Given the description of an element on the screen output the (x, y) to click on. 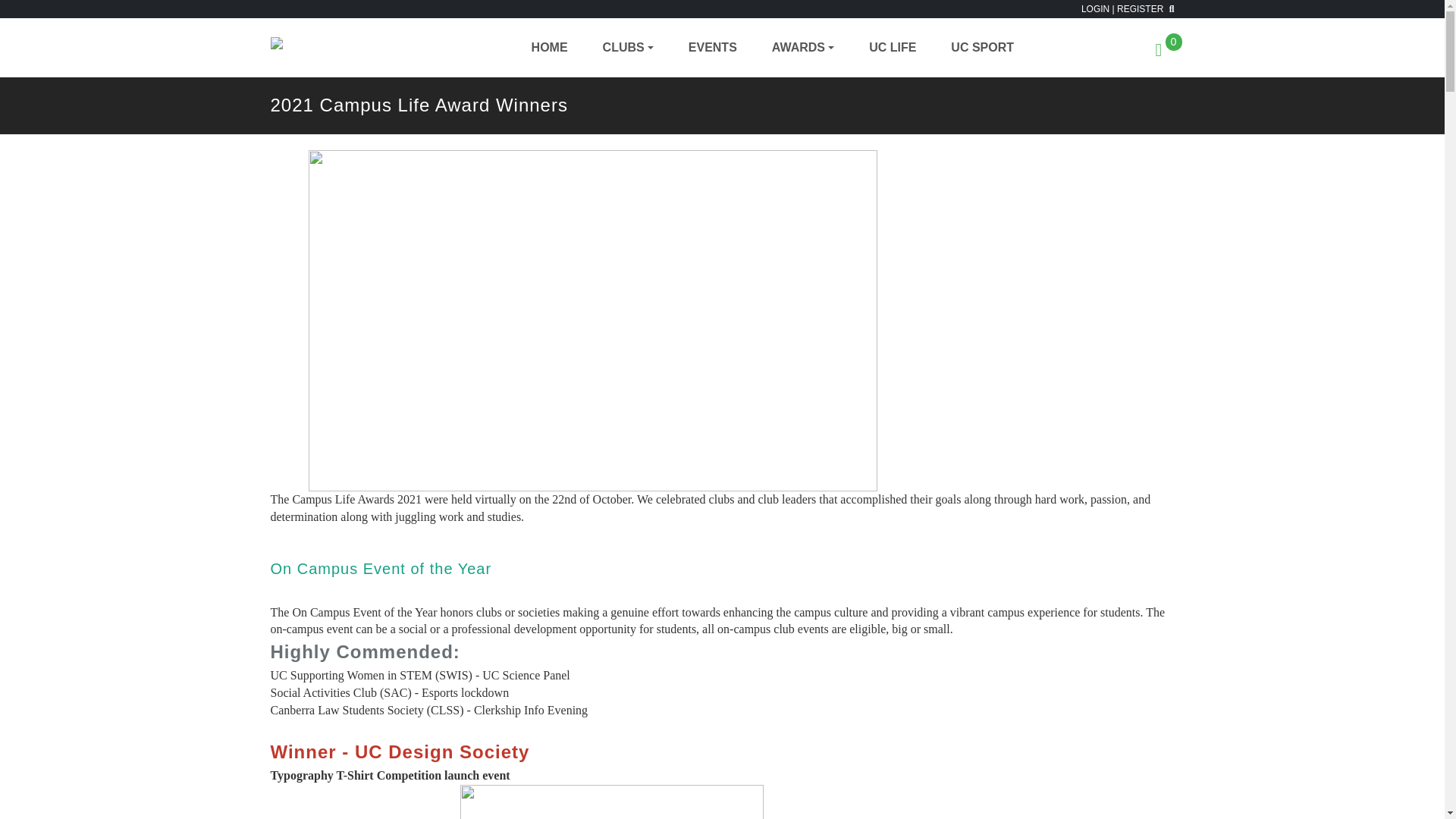
LOGIN (1095, 9)
UC SPORT (982, 47)
REGISTER (1139, 9)
EVENTS (713, 47)
UC LIFE (893, 47)
HOME (549, 47)
0 (1165, 50)
AWARDS (802, 47)
CLUBS (627, 47)
